Given the description of an element on the screen output the (x, y) to click on. 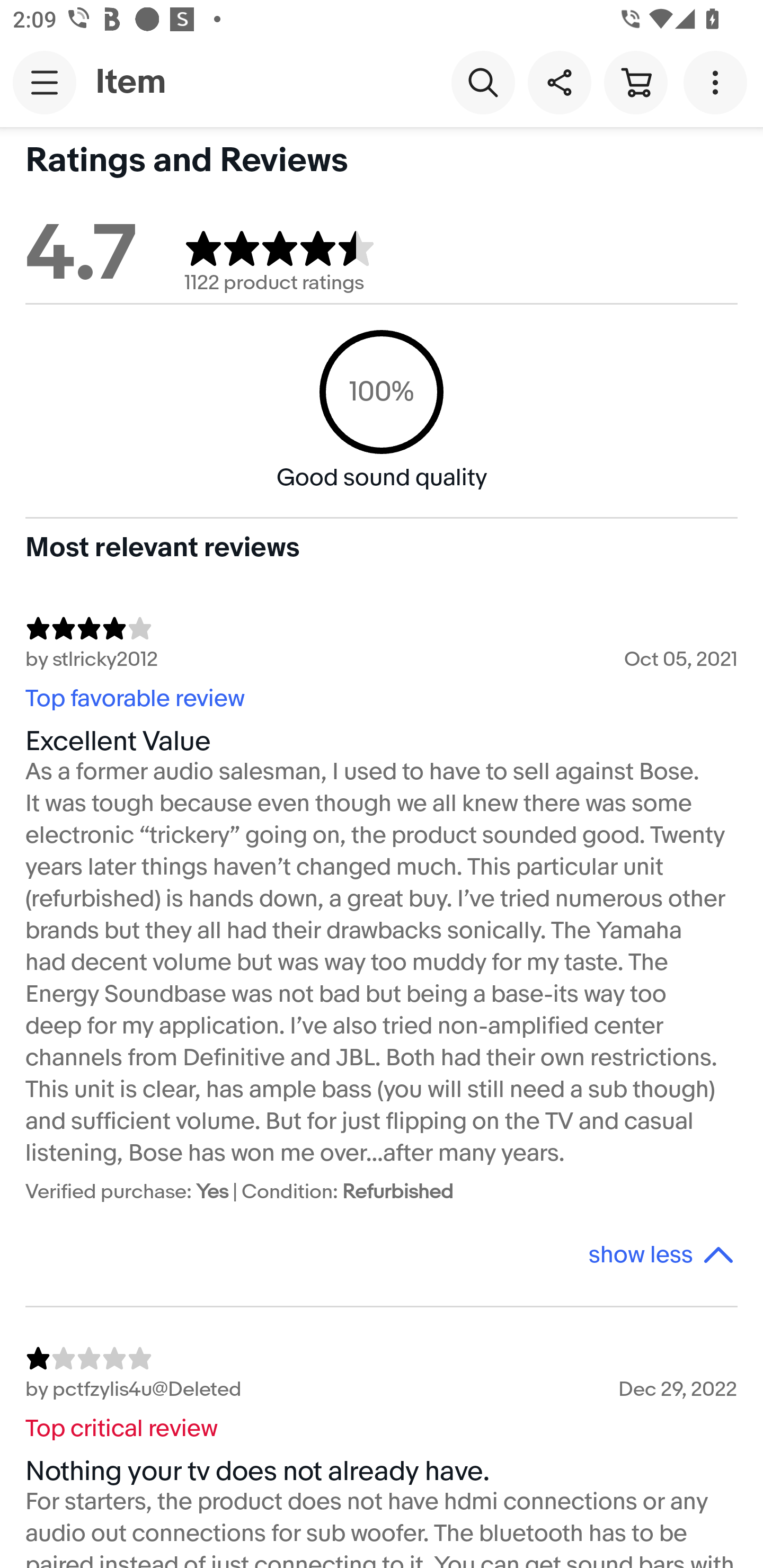
Main navigation, open (44, 82)
Search (482, 81)
Share this item (559, 81)
Cart button shopping cart (635, 81)
More options (718, 81)
